Given the description of an element on the screen output the (x, y) to click on. 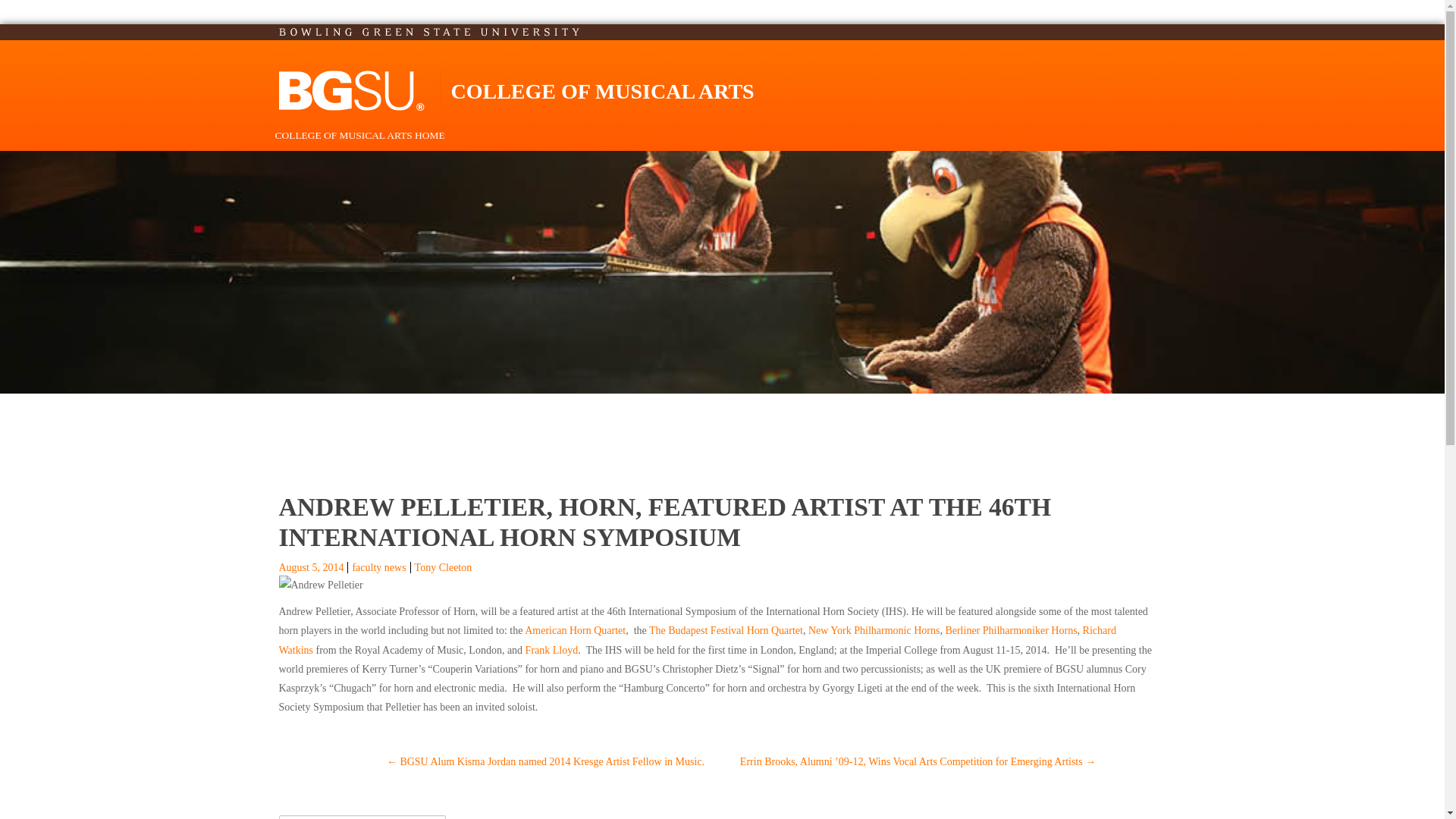
Tony Cleeton (442, 567)
COLLEGE OF MUSICAL ARTS HOME (358, 135)
Frank Lloyd (551, 650)
August 5, 2014 (311, 567)
New York Philharmonic Horns (873, 630)
Berliner Philharmoniker Horns (1010, 630)
View all posts by Tony Cleeton (442, 567)
American Horn Quartet (575, 630)
The Budapest Festival Horn Quartet (726, 630)
